Given the description of an element on the screen output the (x, y) to click on. 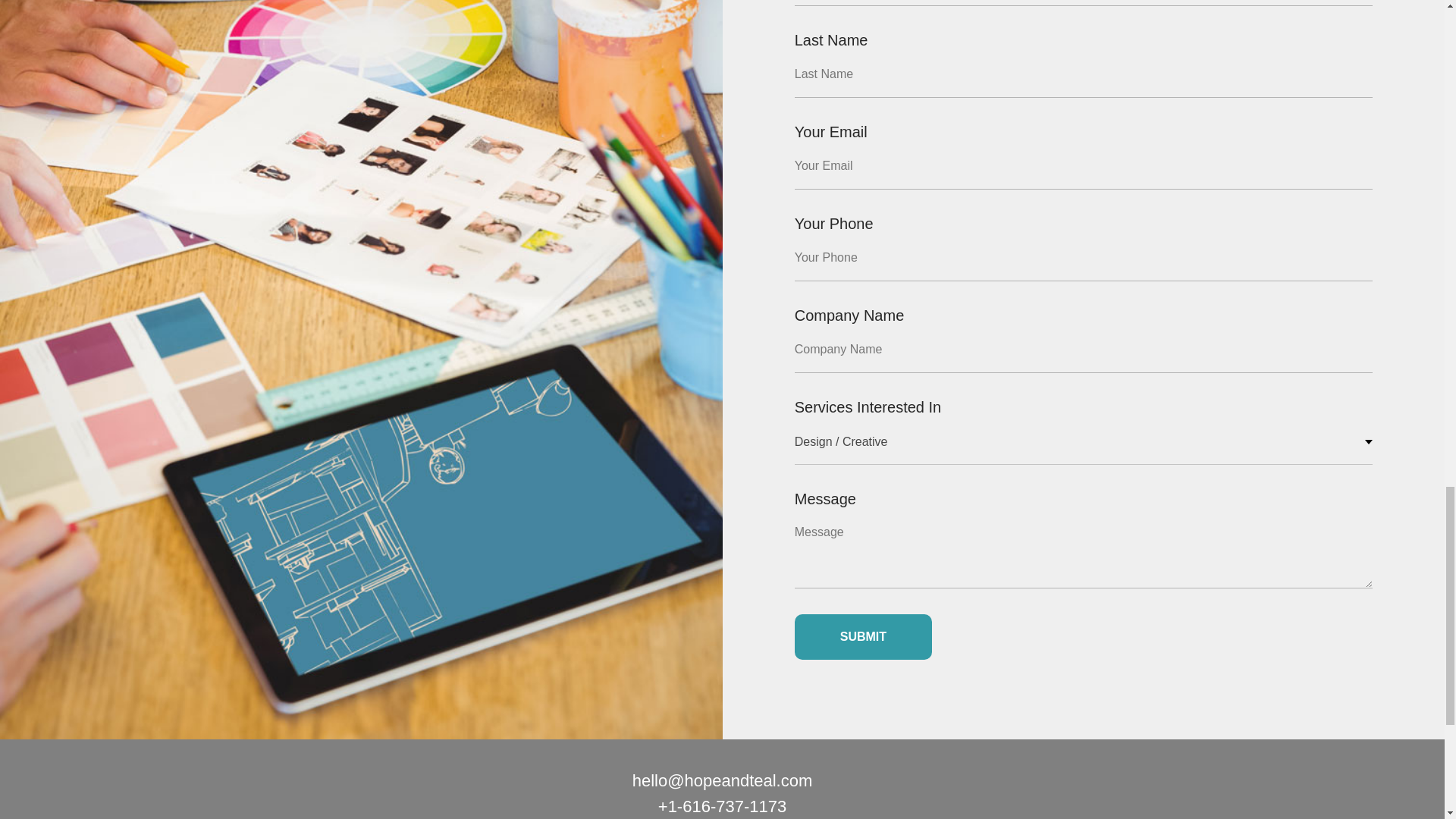
SUBMIT (862, 637)
